Given the description of an element on the screen output the (x, y) to click on. 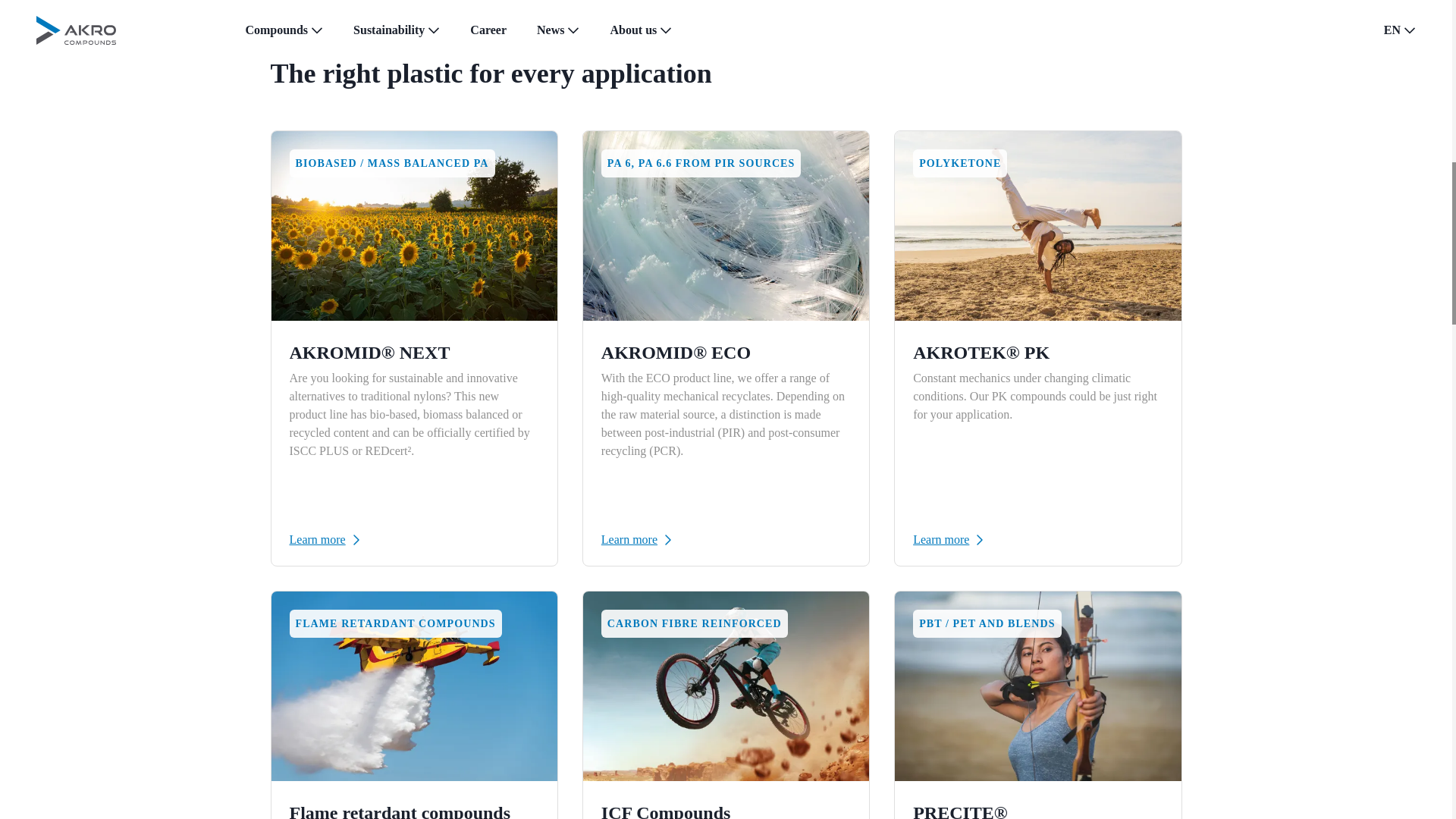
Learn more (413, 539)
Learn more (725, 539)
Learn more (1036, 539)
